Given the description of an element on the screen output the (x, y) to click on. 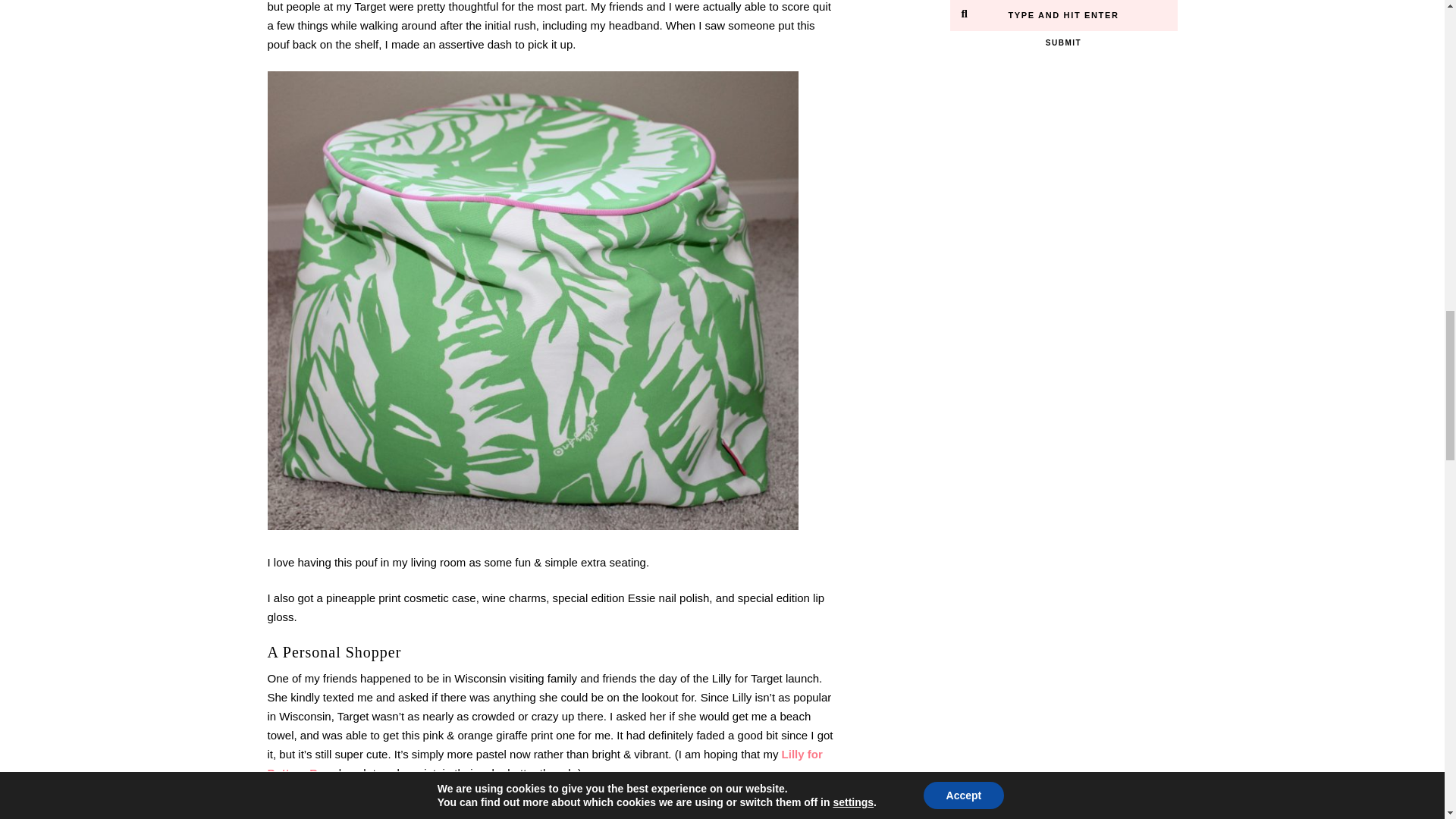
Type and hit enter (1063, 14)
Type and hit enter (1063, 14)
